Given the description of an element on the screen output the (x, y) to click on. 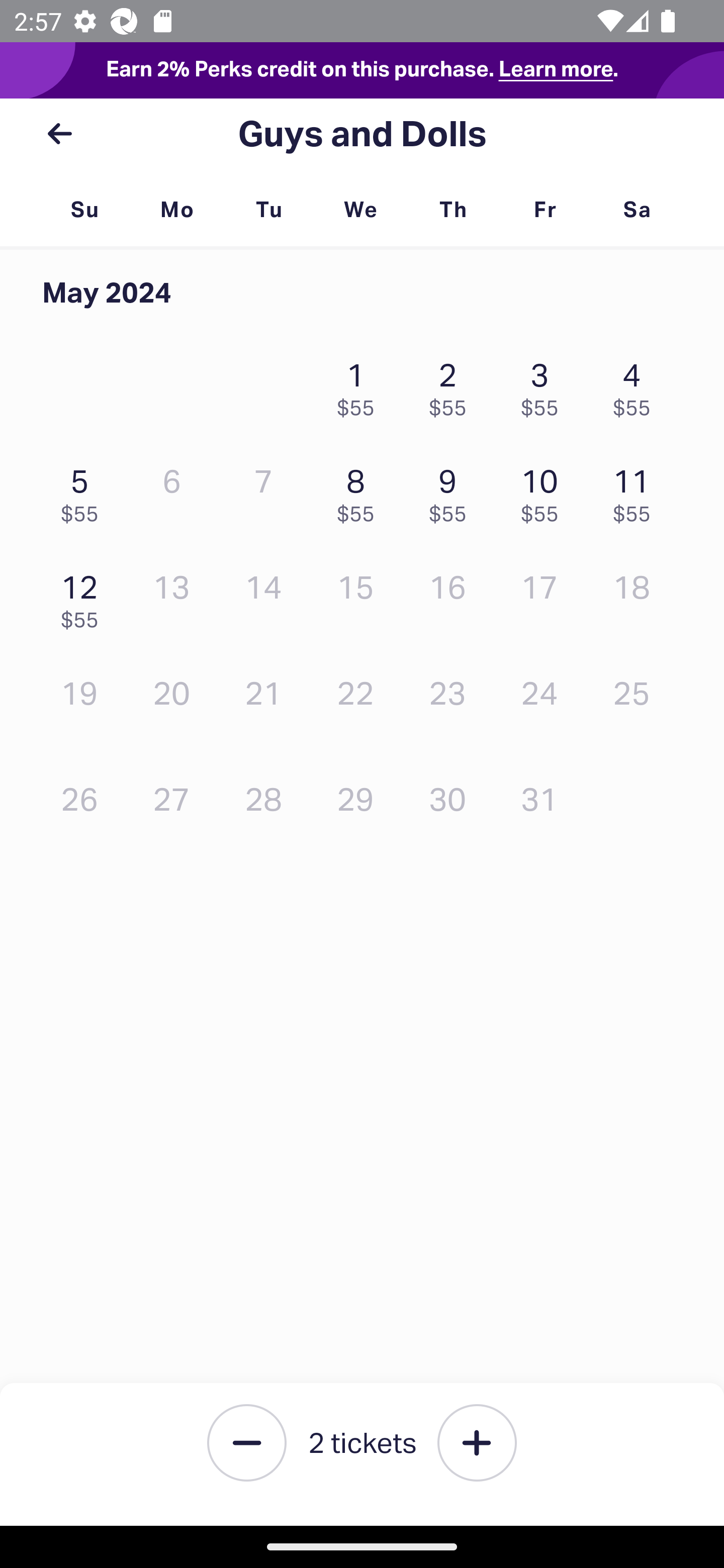
Earn 2% Perks credit on this purchase. Learn more. (362, 70)
back button (59, 133)
1 $55 (360, 384)
2 $55 (452, 384)
3 $55 (544, 384)
4 $55 (636, 384)
5 $55 (84, 490)
8 $55 (360, 490)
9 $55 (452, 490)
10 $55 (544, 490)
11 $55 (636, 490)
12 $55 (84, 596)
